Given the description of an element on the screen output the (x, y) to click on. 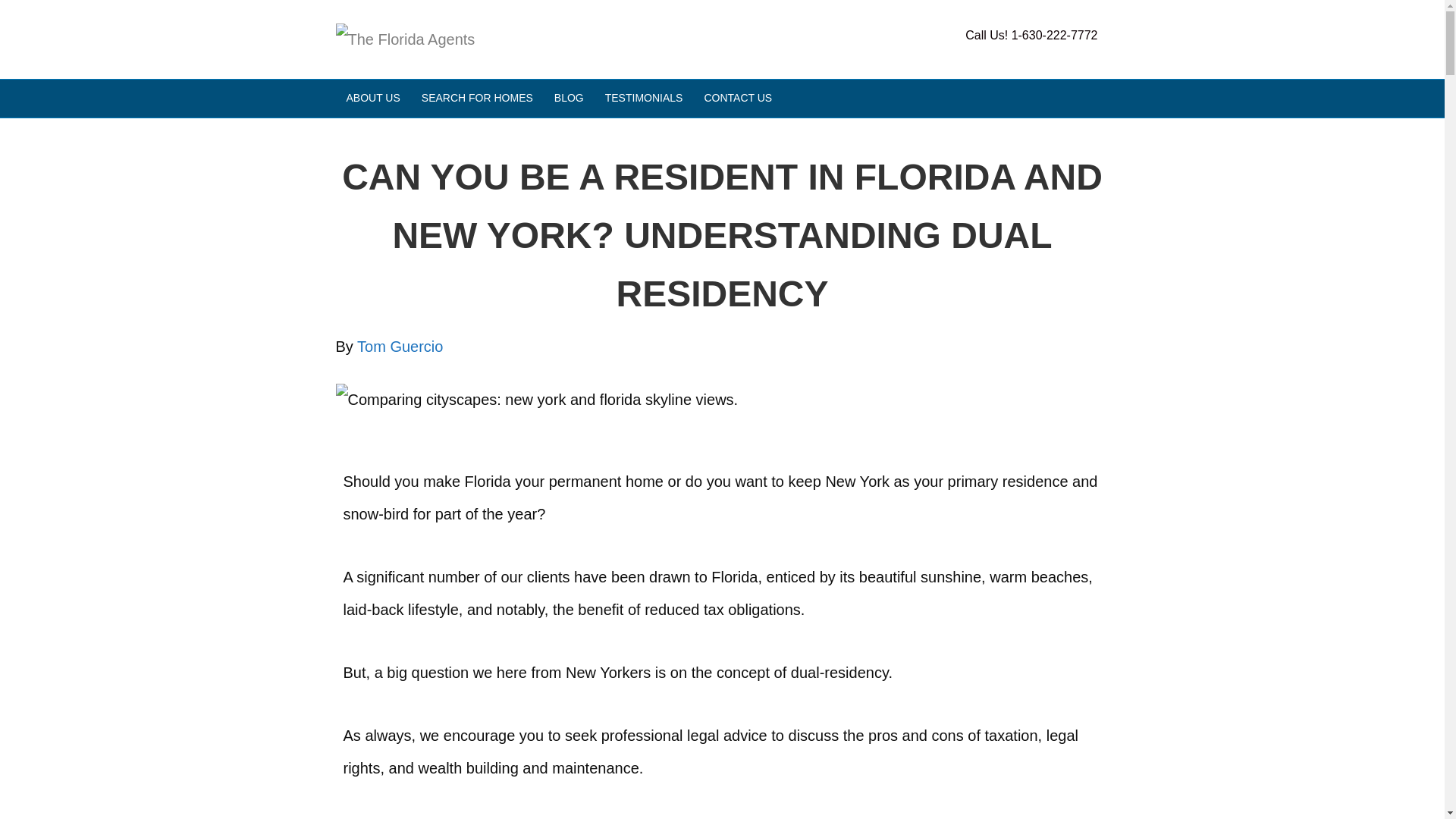
CONTACT US (738, 98)
TESTIMONIALS (644, 98)
Tom Guercio (399, 346)
SEARCH FOR HOMES (476, 98)
BLOG (568, 98)
ABOUT US (372, 98)
